Given the description of an element on the screen output the (x, y) to click on. 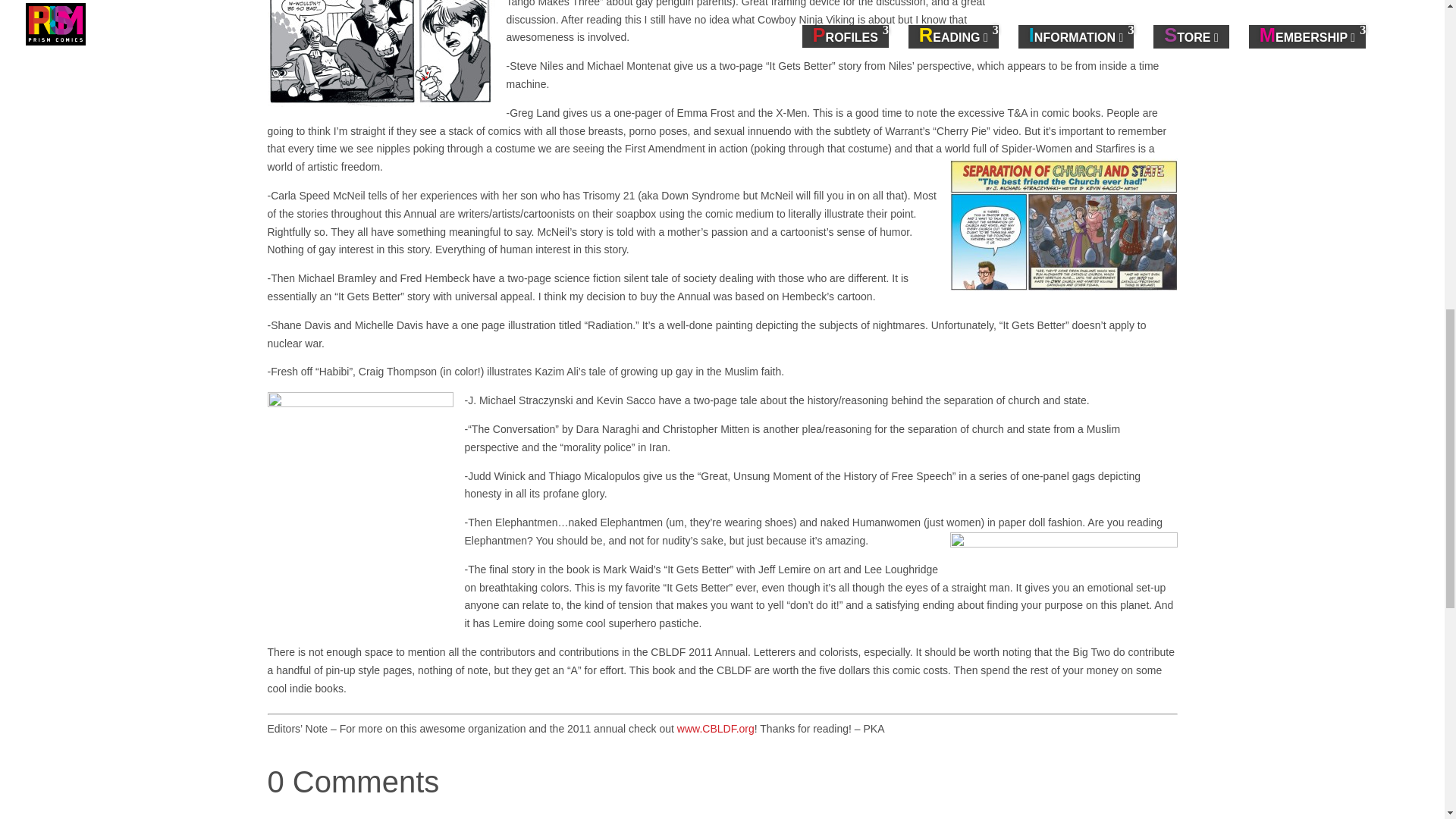
www.CBLDF.org (715, 728)
CBLDF 2011 Annual (1103, 22)
magic (1062, 548)
WHATTA THEY KNOW? (380, 53)
